Given the description of an element on the screen output the (x, y) to click on. 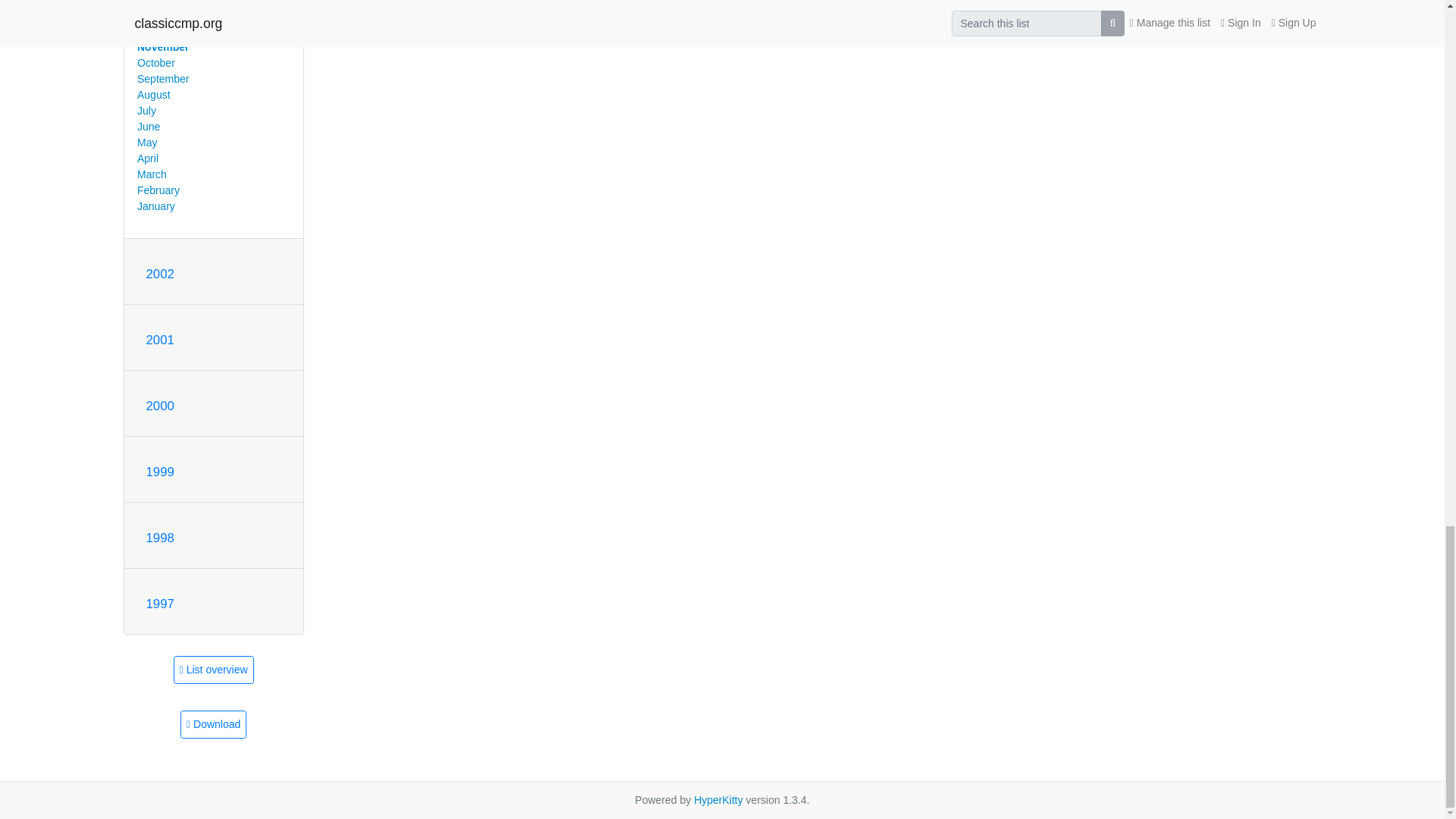
This message in gzipped mbox format (213, 724)
